Given the description of an element on the screen output the (x, y) to click on. 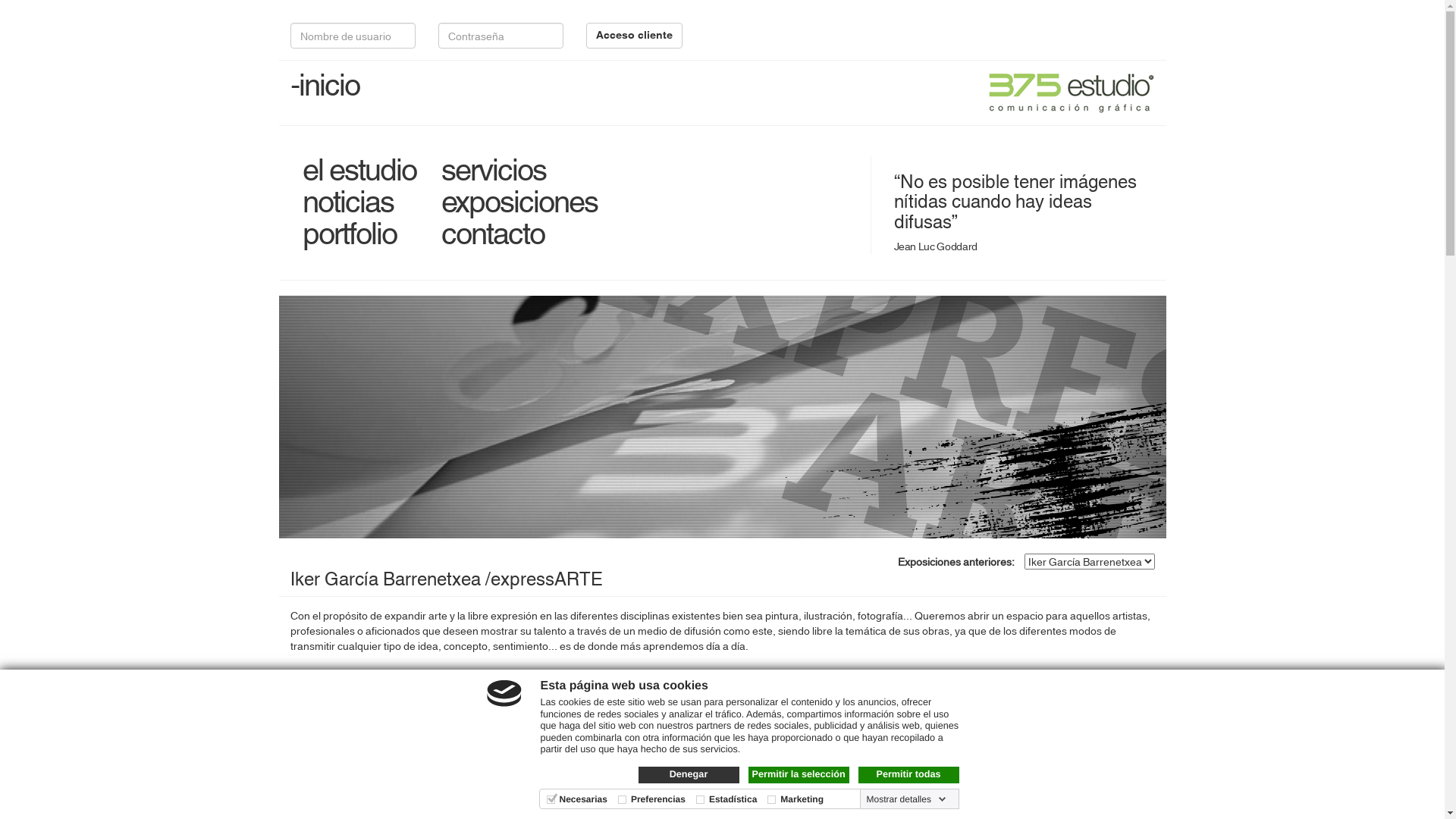
375estudio en Twitter Element type: hover (1078, 30)
Denegar Element type: text (688, 774)
Mostrar detalles Element type: text (906, 799)
Acceso cliente Element type: text (633, 35)
-inicio Element type: text (323, 83)
noticias Element type: text (346, 200)
375estudio en Google + Element type: hover (1100, 30)
Permitir todas Element type: text (908, 774)
portfolio Element type: text (348, 232)
contacto Element type: text (492, 232)
servicios Element type: text (493, 168)
el estudio Element type: text (358, 168)
375estudio en Facebook Element type: hover (1056, 30)
exposiciones Element type: text (519, 200)
